Given the description of an element on the screen output the (x, y) to click on. 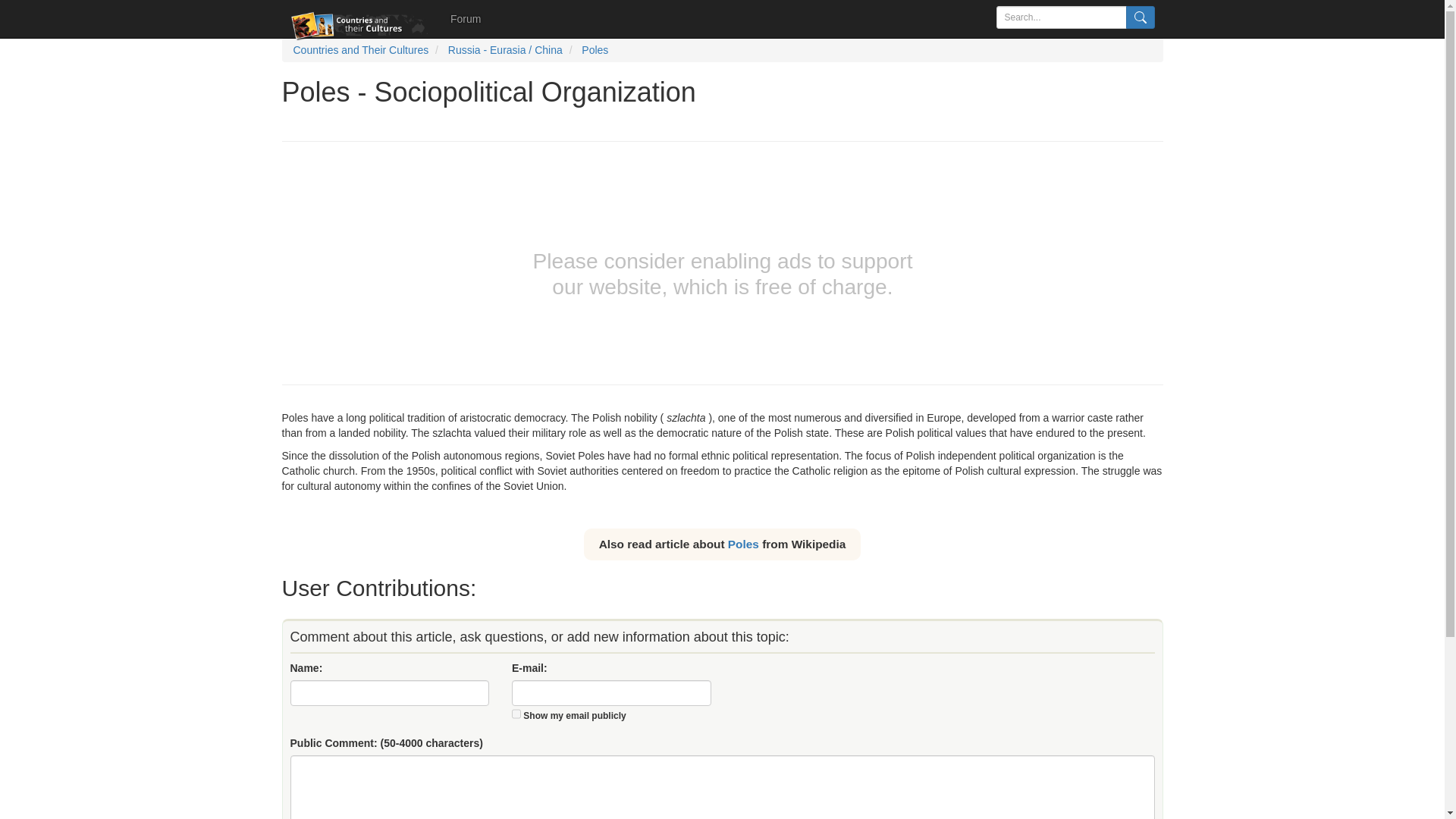
Forum (465, 18)
Poles (594, 50)
Countries and Their Cultures (360, 50)
1 (516, 714)
Poles (743, 543)
